Given the description of an element on the screen output the (x, y) to click on. 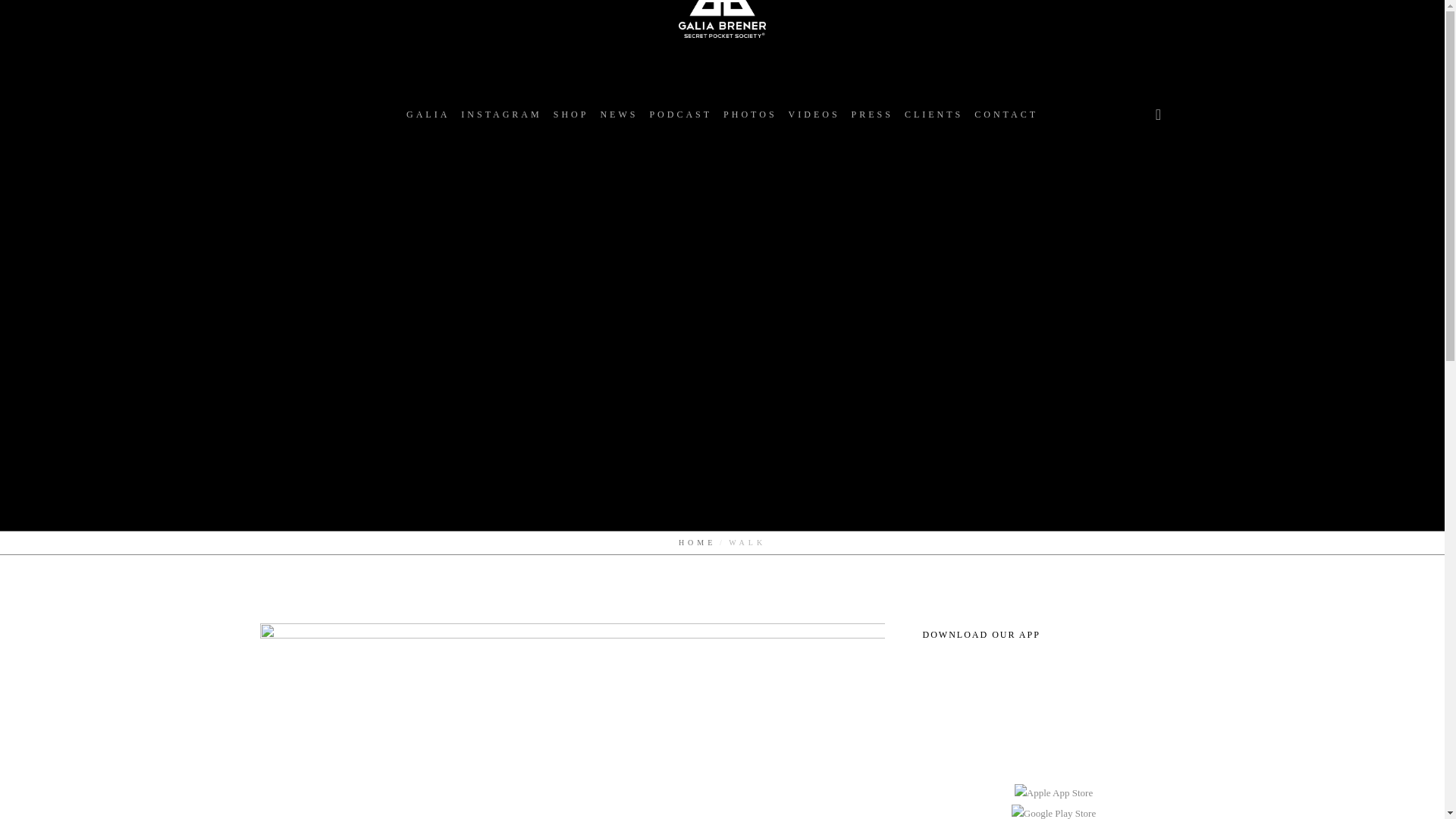
PODCAST (680, 114)
PHOTOS (749, 114)
INSTAGRAM (501, 114)
CONTACT (1006, 114)
SHOP (570, 114)
NEWS (619, 114)
CLIENTS (933, 114)
PRESS (872, 114)
HOME (697, 542)
GALIA (427, 114)
